Given the description of an element on the screen output the (x, y) to click on. 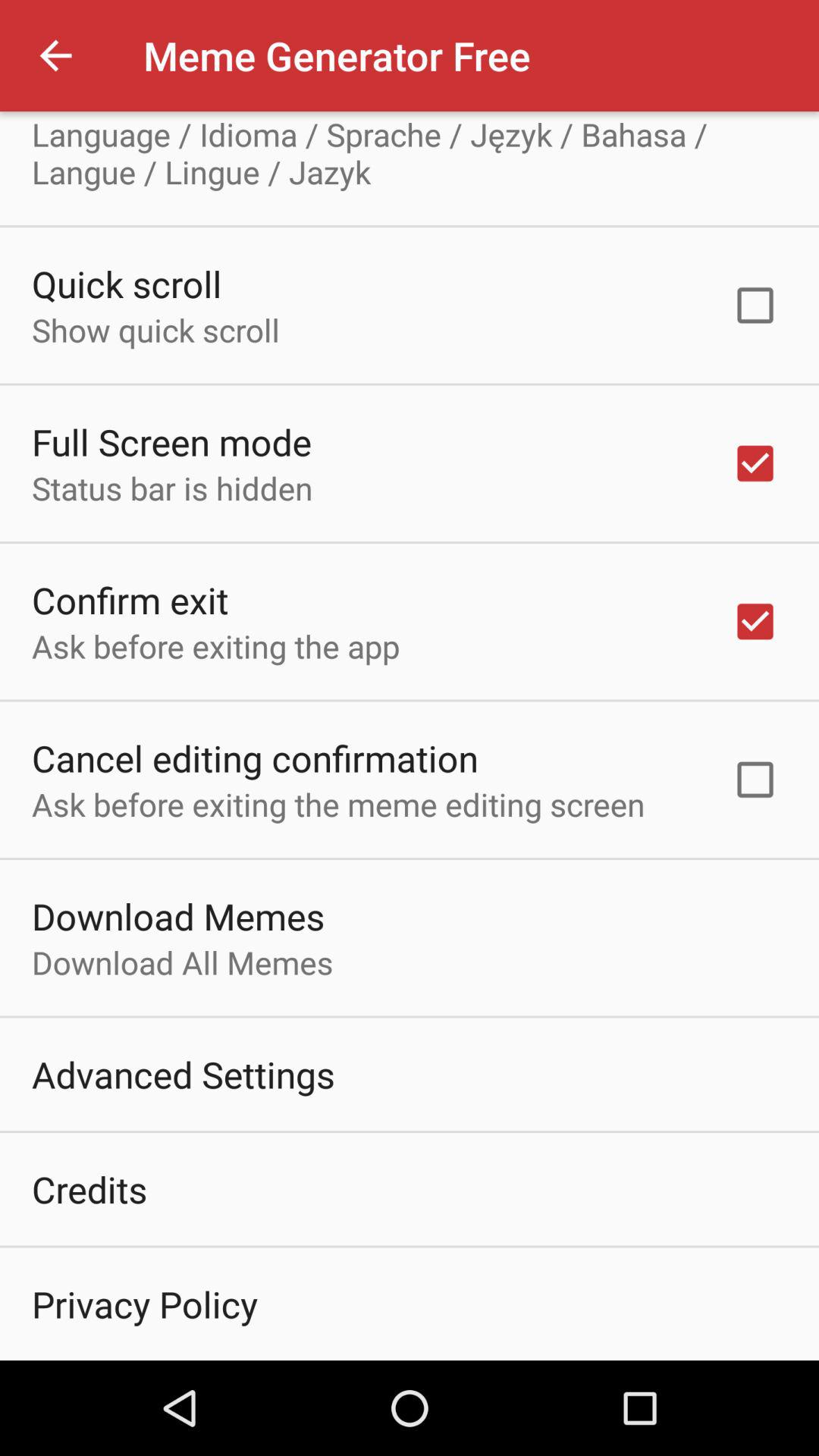
select item next to meme generator free (55, 55)
